Given the description of an element on the screen output the (x, y) to click on. 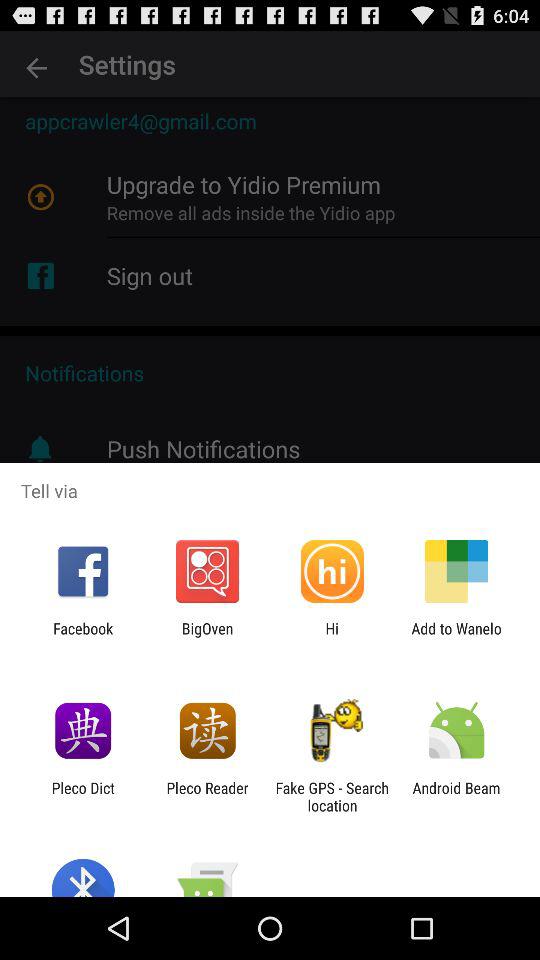
flip to bigoven (207, 637)
